Given the description of an element on the screen output the (x, y) to click on. 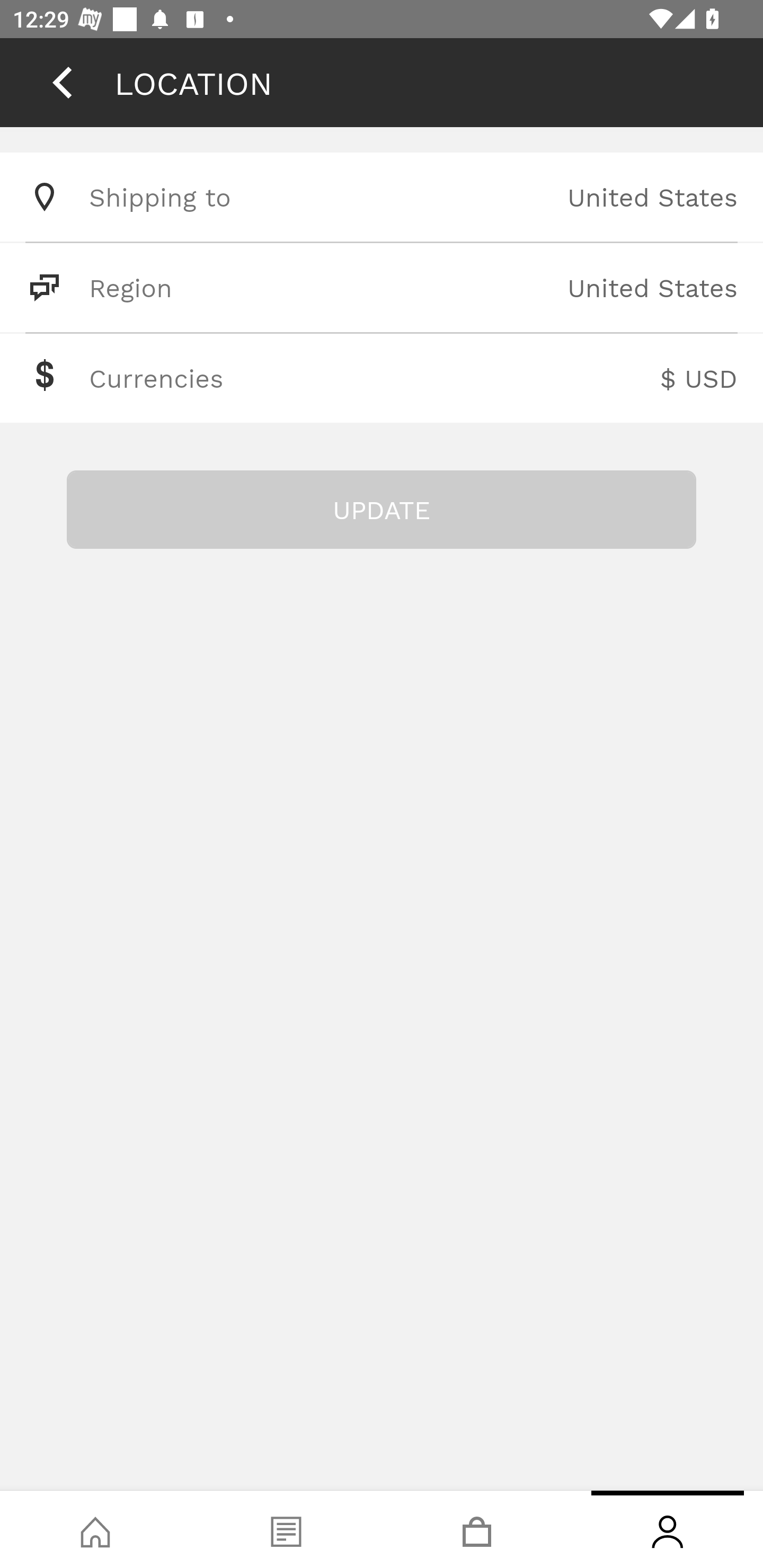
ACCOUNT, back (61, 82)
Shipping to Shipping to United States (381, 196)
Region Region United States (381, 287)
Currencies Currencies $ USD (381, 378)
Update UPDATE (381, 509)
Shop, tab, 1 of 4 (95, 1529)
Blog, tab, 2 of 4 (285, 1529)
Basket, tab, 3 of 4 (476, 1529)
Account, tab, 4 of 4 (667, 1529)
